Given the description of an element on the screen output the (x, y) to click on. 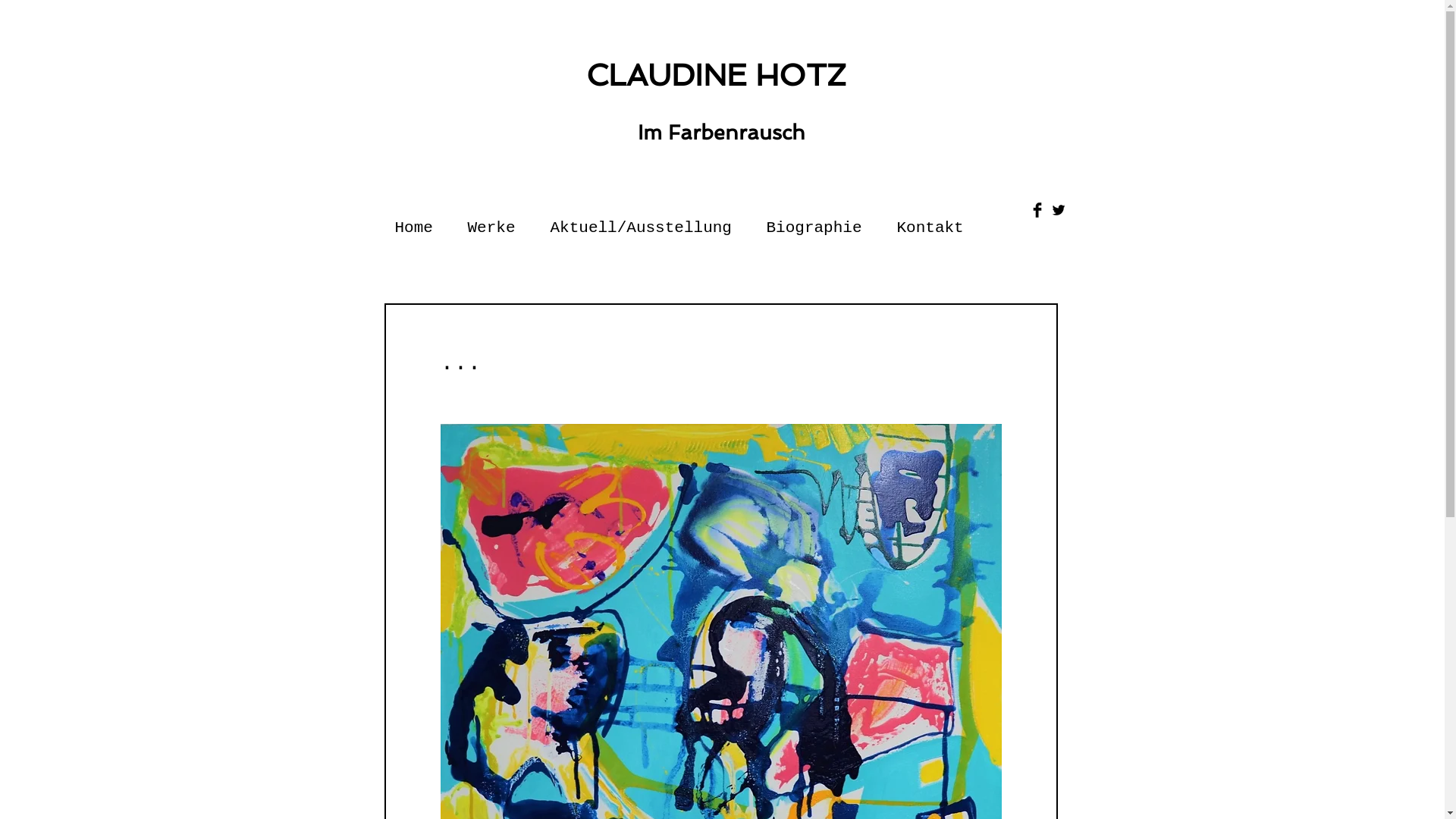
Kontakt Element type: text (930, 220)
Aktuell/Ausstellung Element type: text (640, 220)
Biographie Element type: text (814, 220)
Home Element type: text (413, 220)
Werke Element type: text (491, 220)
